Given the description of an element on the screen output the (x, y) to click on. 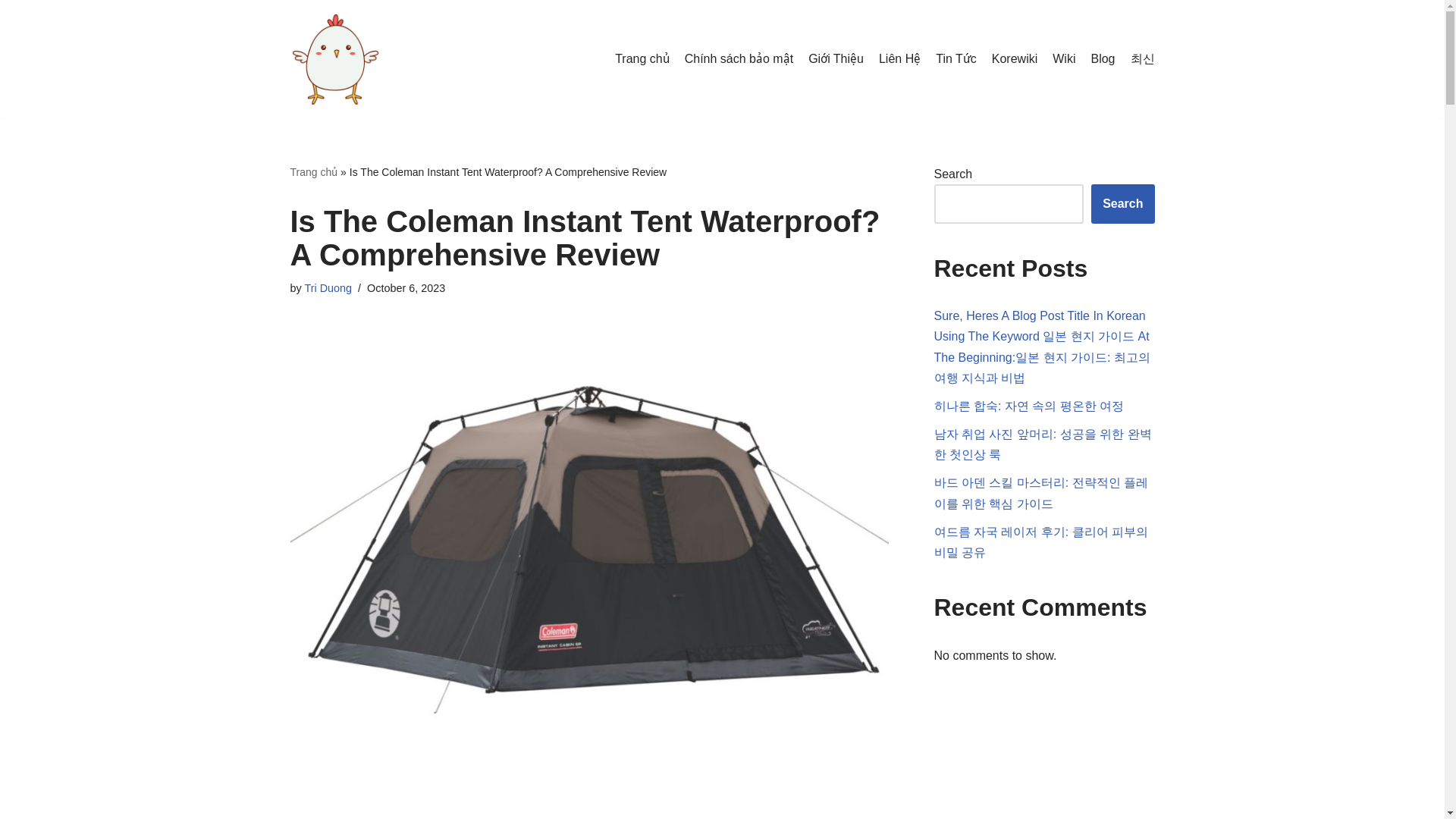
Korewiki (1013, 58)
Wiki (1063, 58)
Blog (1102, 58)
Posts by Tri Duong (328, 287)
Tri Duong (328, 287)
Skip to content (11, 31)
Search (1122, 203)
Trangtraigarung.com (334, 58)
Advertisement (589, 806)
